Given the description of an element on the screen output the (x, y) to click on. 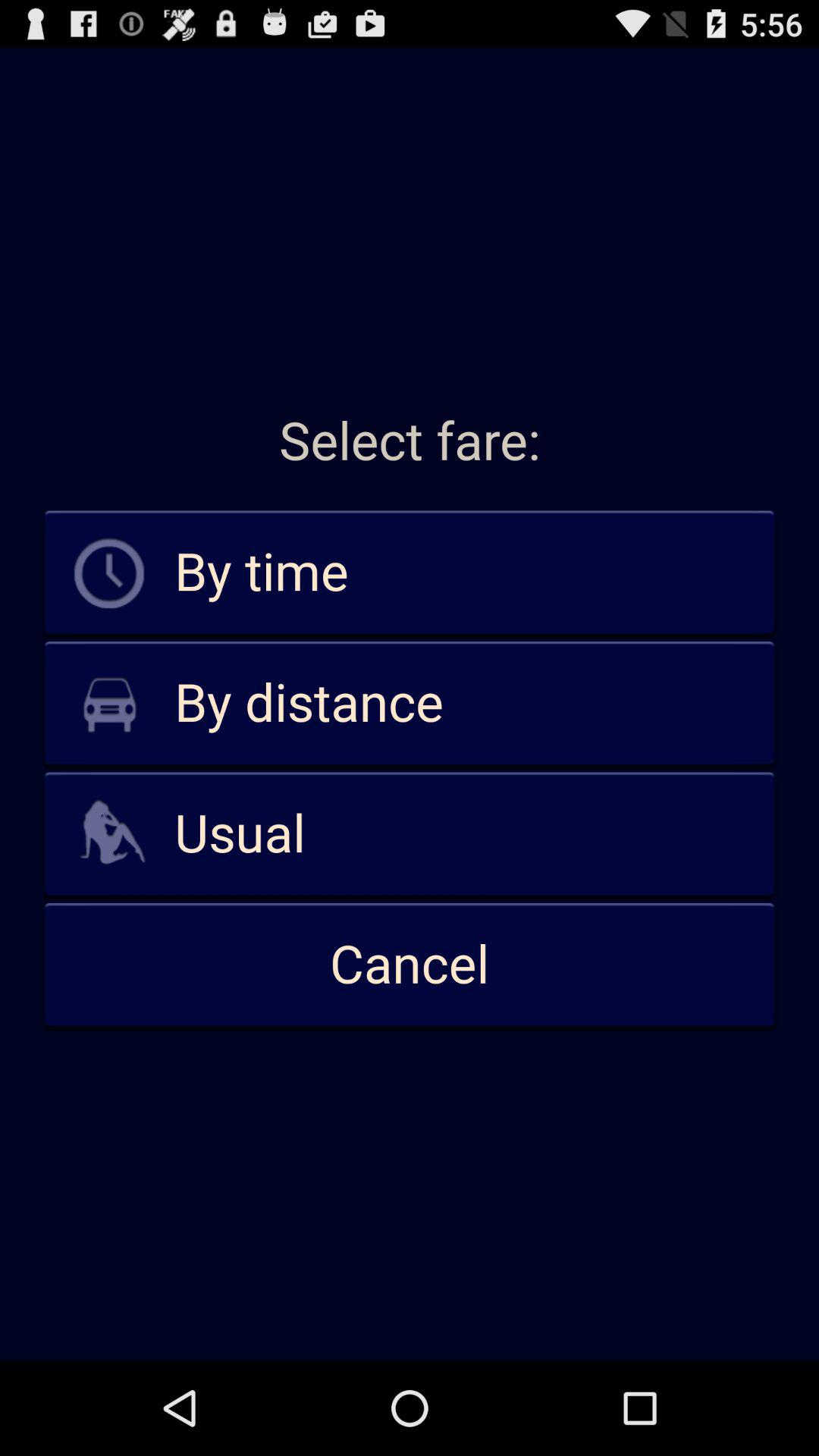
choose the usual (409, 834)
